Given the description of an element on the screen output the (x, y) to click on. 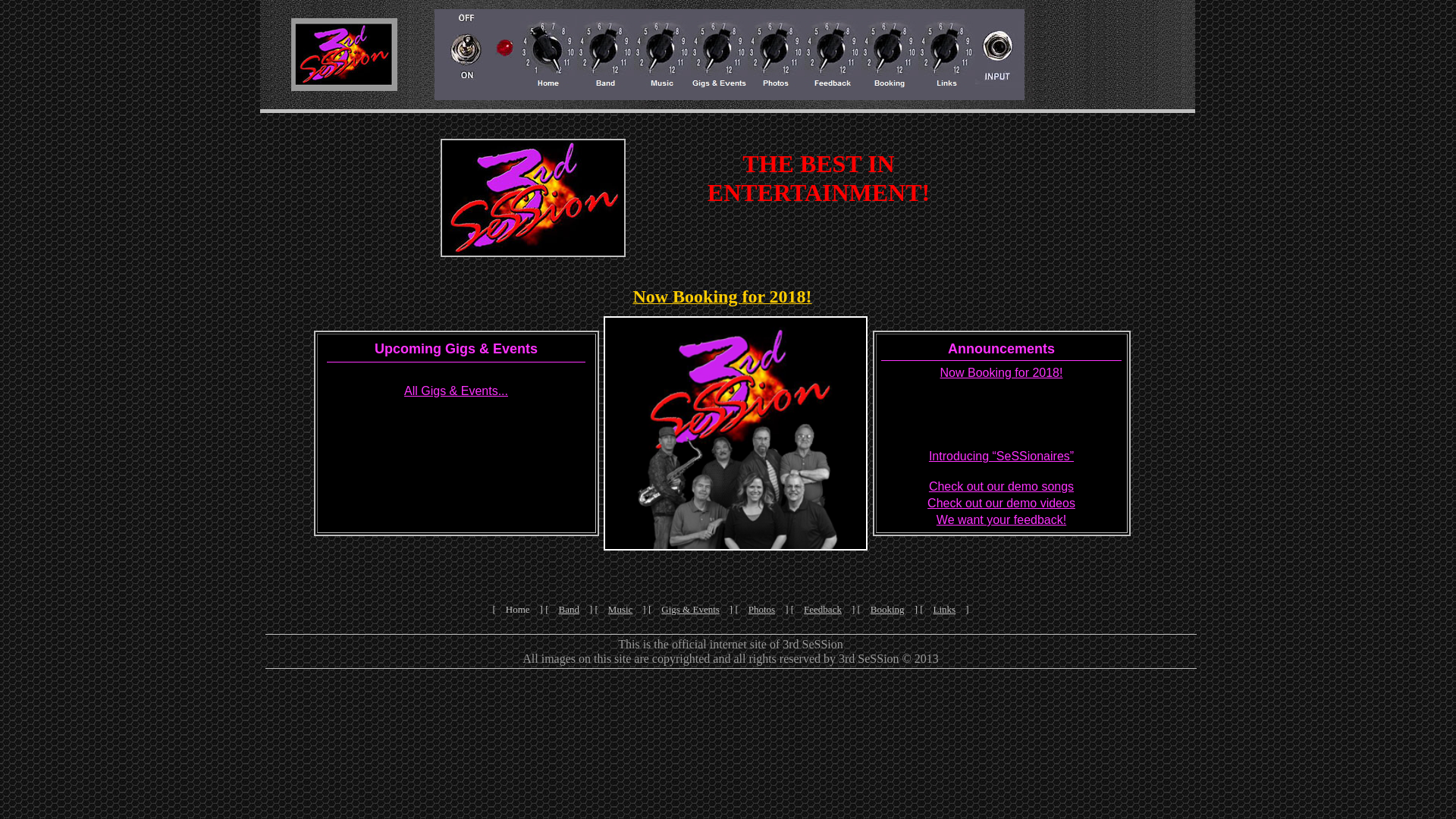
Now Booking for 2018! Element type: text (1001, 372)
Band Element type: text (568, 609)
Check out our demo songs Element type: text (1000, 486)
Feedback Element type: text (822, 609)
jack Element type: hover (999, 54)
Booking
 Element type: hover (889, 54)
All Gigs & Events... Element type: text (456, 390)
Booking Element type: text (887, 609)
Music
 Element type: hover (661, 54)
Gigs & Events
 Element type: hover (718, 54)
Links
 Element type: hover (945, 54)
3rd Session_Group_7_BW_web Element type: hover (735, 433)
Now Booking for 2018! Element type: text (721, 297)
We want your feedback! Element type: text (1001, 519)
Check out our demo videos Element type: text (1001, 502)
Photos Element type: text (761, 609)
switch Element type: hover (476, 54)
Links Element type: text (944, 609)
Band
 Element type: hover (604, 54)
Music Element type: text (620, 609)
Home
 Element type: hover (548, 54)
Photos
 Element type: hover (775, 54)
Gigs & Events Element type: text (690, 609)
Feedback
 Element type: hover (831, 54)
3rd-Session-Plate Element type: hover (344, 54)
3rd SeSSion Element type: hover (532, 197)
